Given the description of an element on the screen output the (x, y) to click on. 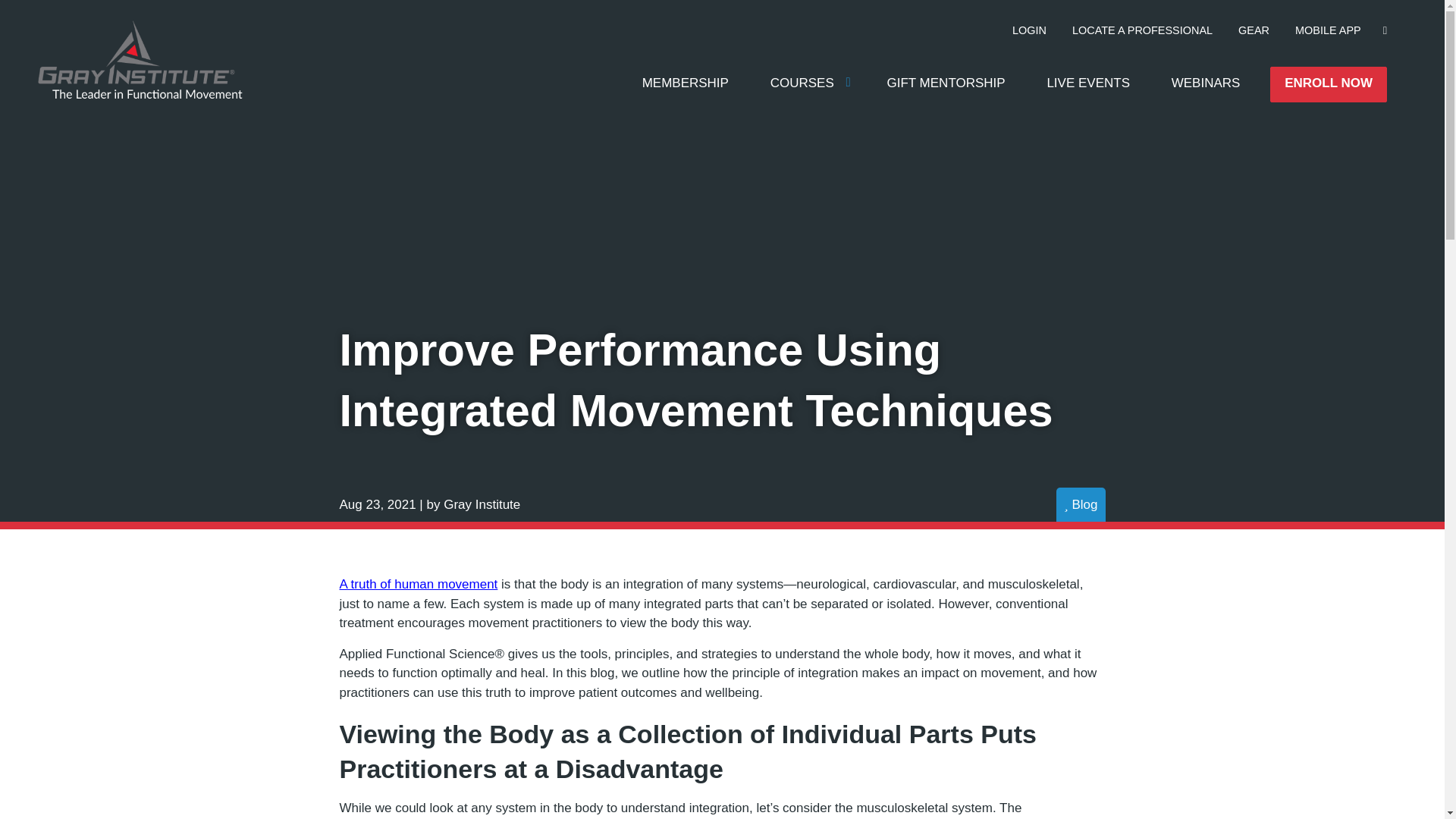
LOGIN (1029, 30)
ENROLL NOW (1328, 84)
LIVE EVENTS (1088, 83)
LOCATE A PROFESSIONAL (1142, 30)
WEBINARS (1206, 83)
COURSES (807, 83)
A truth of human movement (418, 584)
GEAR (1254, 30)
GIFT MENTORSHIP (945, 83)
MEMBERSHIP (684, 83)
MOBILE APP (1328, 30)
Blog (1081, 504)
